Given the description of an element on the screen output the (x, y) to click on. 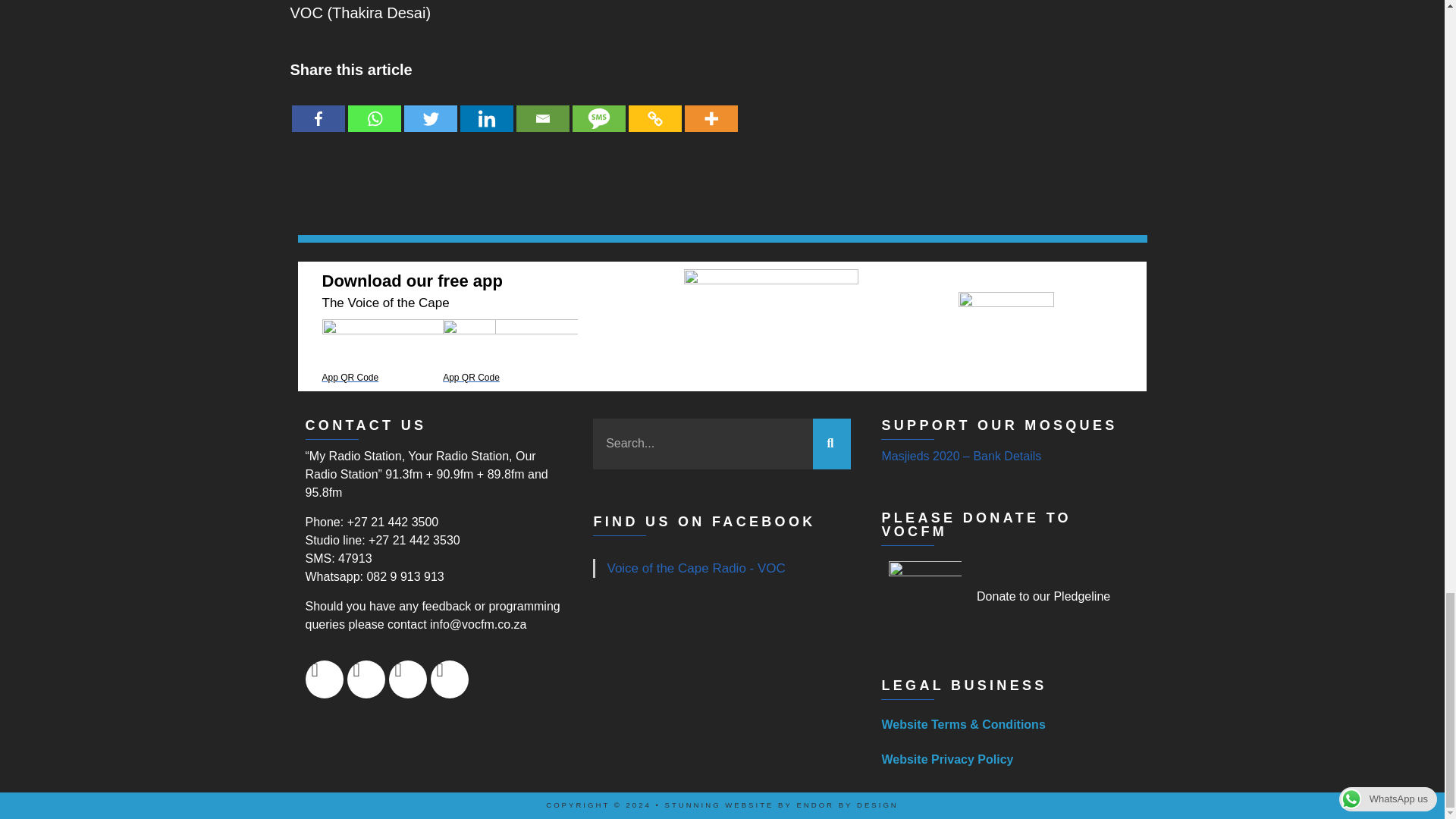
Email (542, 107)
Facebook (317, 107)
Whatsapp (373, 107)
Twitter (430, 107)
Linkedin (486, 107)
